Given the description of an element on the screen output the (x, y) to click on. 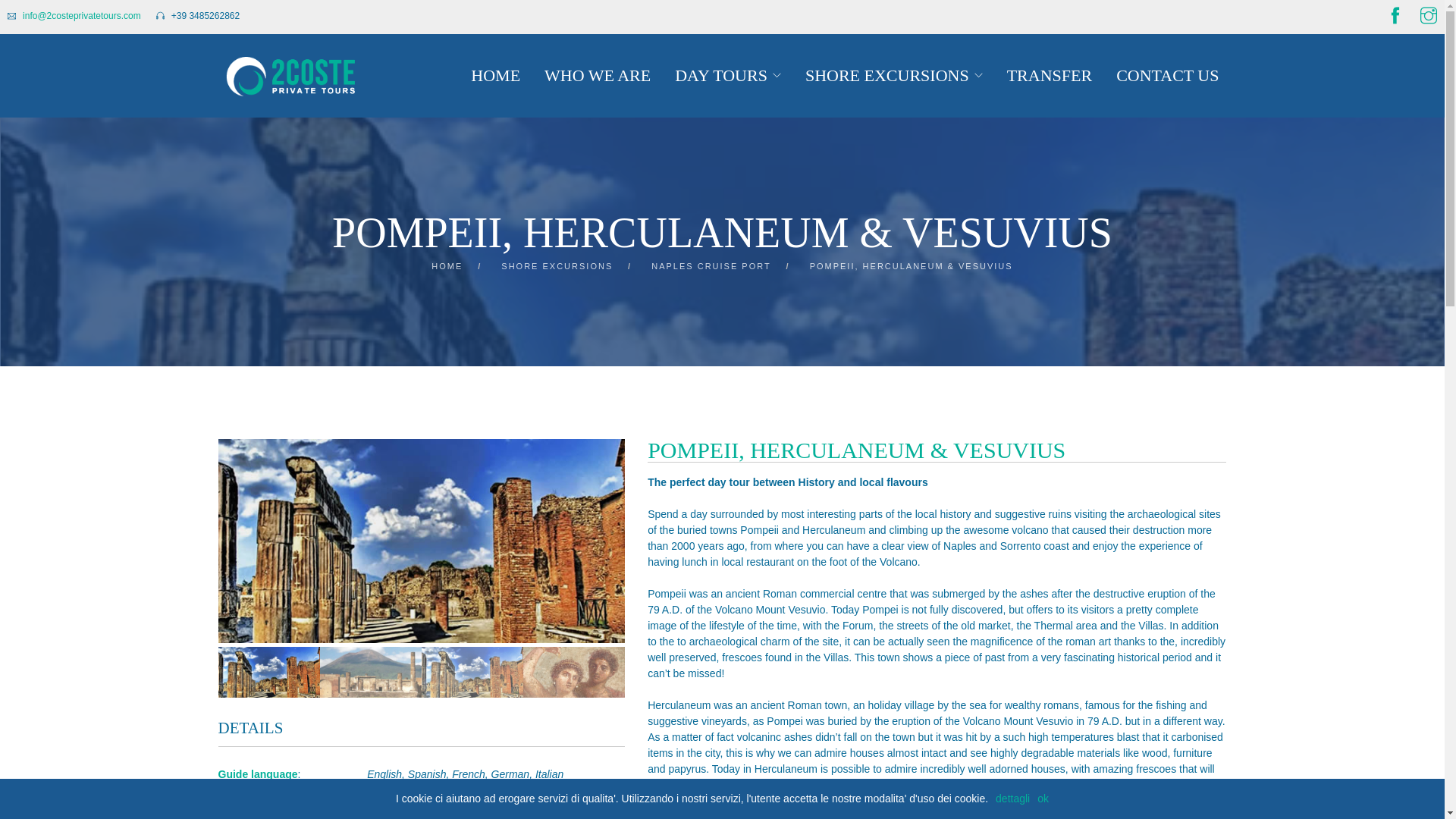
HOME Element type: text (446, 265)
DAY TOURS Element type: text (720, 75)
instagram Element type: hover (1428, 15)
POMPEII, HERCULANEUM & VESUVIUS Element type: text (911, 265)
Pompeii, Herculaneum & Vesuvius Element type: hover (421, 541)
facebook Element type: hover (1394, 15)
SHORE EXCURSIONS Element type: text (887, 75)
SHORE EXCURSIONS Element type: text (556, 265)
dettagli Element type: text (1012, 798)
Naples Private Tours Element type: hover (290, 75)
info@2costeprivatetours.com Element type: text (81, 15)
ok Element type: text (1042, 798)
NAPLES CRUISE PORT Element type: text (710, 265)
CONTACT US Element type: text (1167, 75)
WHO WE ARE Element type: text (597, 75)
HOME Element type: text (495, 75)
TRANSFER Element type: text (1049, 75)
